Given the description of an element on the screen output the (x, y) to click on. 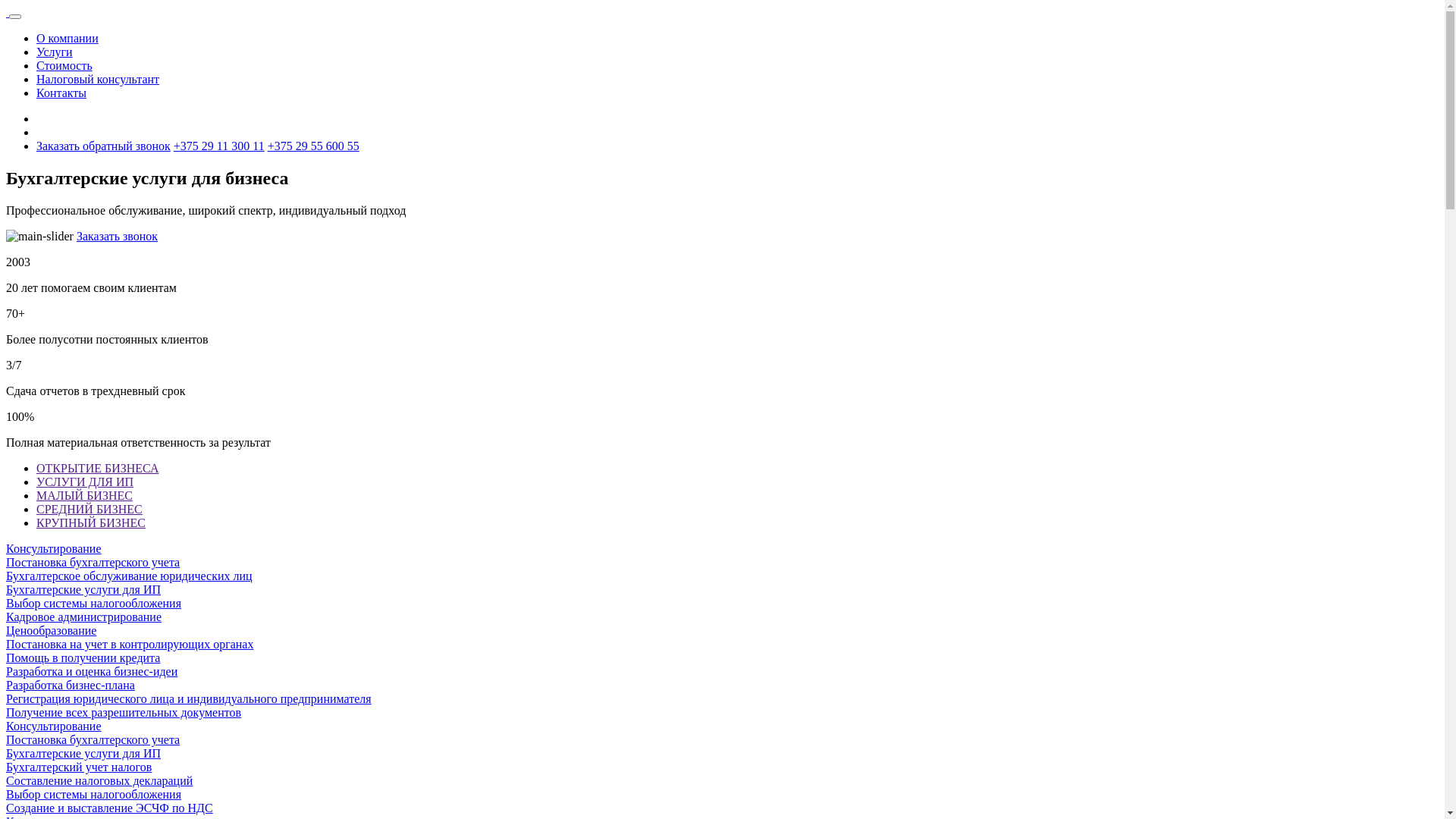
+375 29 55 600 55 Element type: text (313, 145)
+375 29 11 300 11 Element type: text (218, 145)
